Given the description of an element on the screen output the (x, y) to click on. 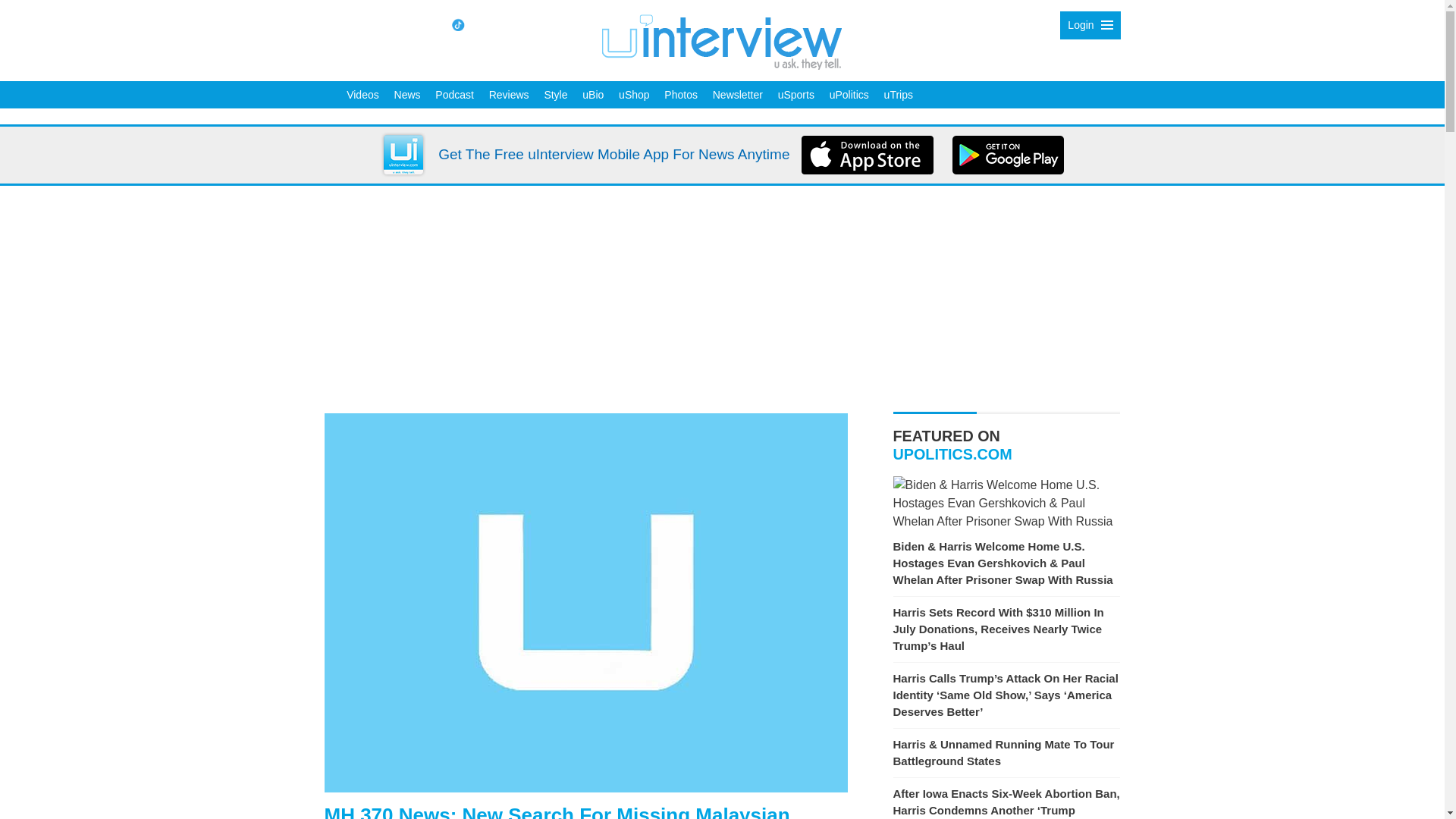
Style (555, 94)
Podcast (454, 94)
Reviews (509, 94)
uSports (796, 94)
News (407, 94)
Videos (362, 94)
Newsletter (737, 94)
uBio (593, 94)
Photos (680, 94)
uPolitics (849, 94)
